Given the description of an element on the screen output the (x, y) to click on. 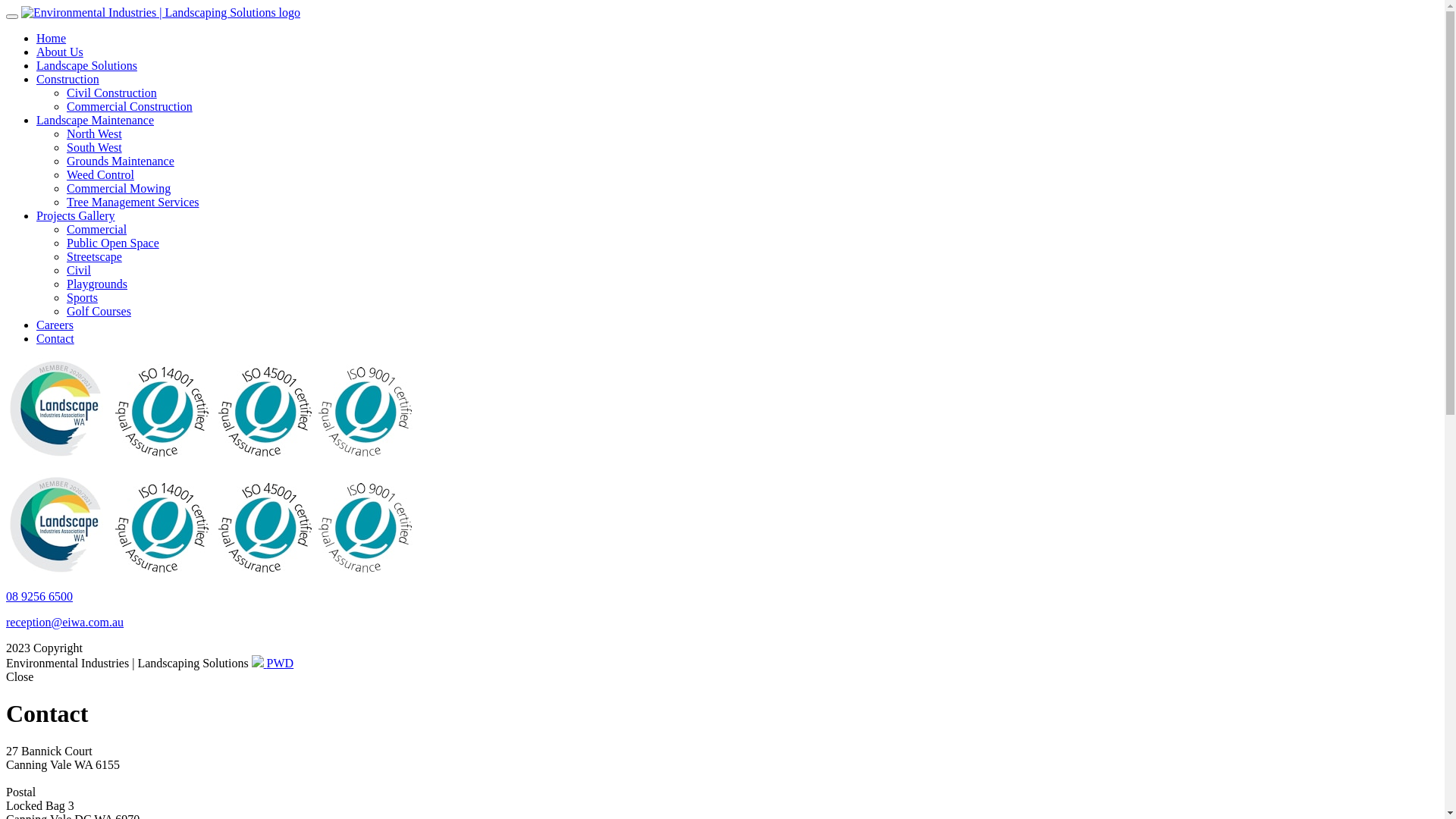
Civil Element type: text (78, 269)
About Us Element type: text (59, 51)
Playgrounds Element type: text (96, 283)
Streetscape Element type: text (94, 256)
Careers Element type: text (54, 324)
Civil Construction Element type: text (111, 92)
South West Element type: text (94, 147)
North West Element type: text (94, 133)
08 9256 6500 Element type: text (39, 595)
Environmental Industries | Landscaping Solutions Element type: hover (160, 12)
Public Open Space Element type: text (112, 242)
Tree Management Services Element type: text (132, 201)
Sports Element type: text (81, 297)
Commercial Mowing Element type: text (118, 188)
Commercial Construction Element type: text (129, 106)
Weed Control Element type: text (100, 174)
Commercial Element type: text (96, 228)
Home Element type: text (50, 37)
Contact Element type: text (55, 338)
Projects Gallery Element type: text (75, 215)
Construction Element type: text (67, 78)
Landscape Maintenance Element type: text (94, 119)
Golf Courses Element type: text (98, 310)
Grounds Maintenance Element type: text (120, 160)
Close Element type: text (19, 676)
Landscape Solutions Element type: text (86, 65)
PWD Element type: text (272, 662)
reception@eiwa.com.au Element type: text (64, 621)
